Given the description of an element on the screen output the (x, y) to click on. 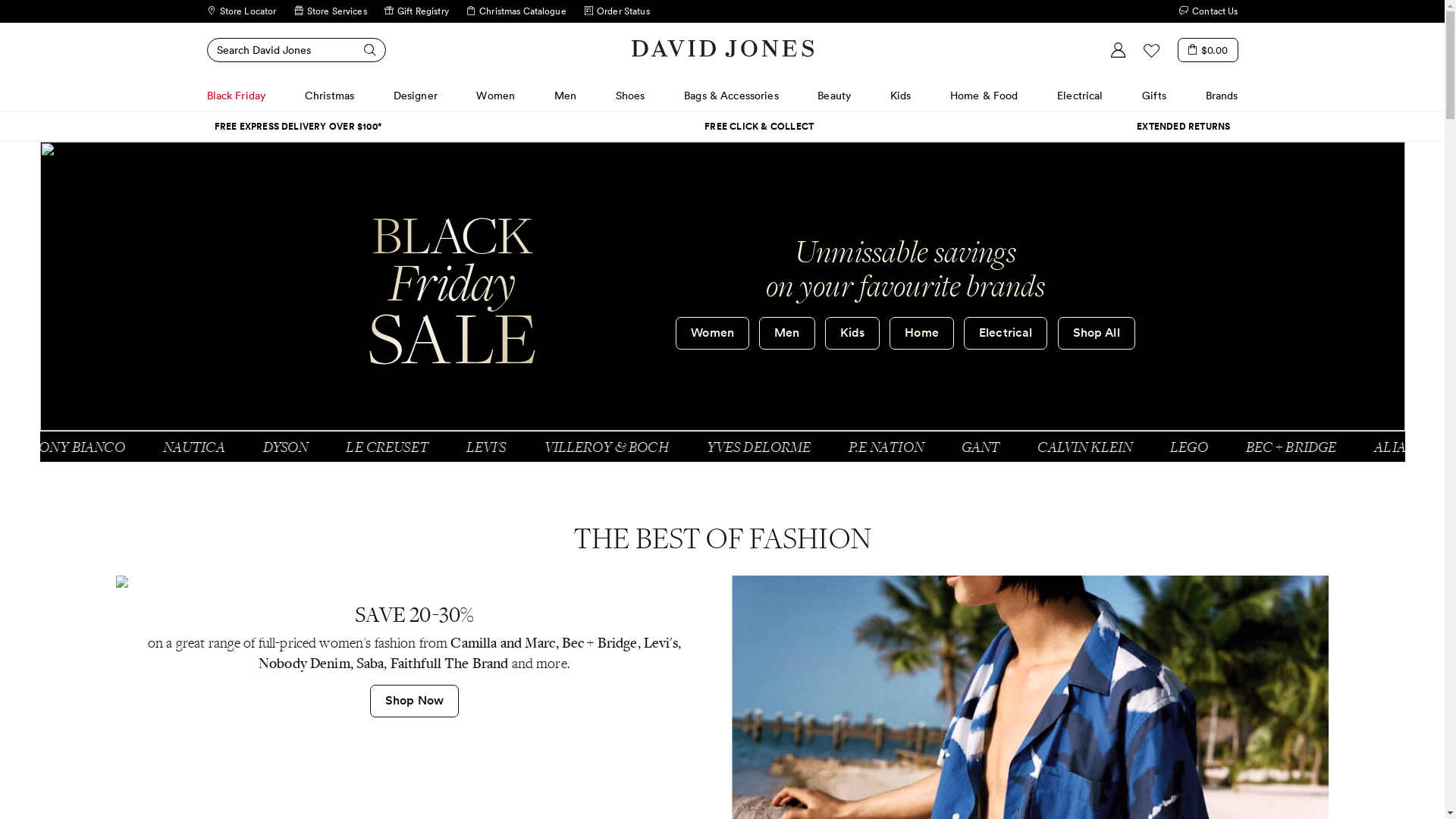
Home & Food Element type: text (984, 95)
Shoes Element type: text (630, 95)
Christmas Catalogue Element type: text (516, 11)
Beauty Element type: text (833, 95)
Men Element type: text (786, 332)
Electrical Element type: text (1079, 95)
Shop All Element type: text (1096, 332)
Bags & Accessories Element type: text (731, 95)
EXTENDED RETURNS Element type: text (1183, 126)
Kids Element type: text (852, 332)
FREE EXPRESS DELIVERY OVER $100* Element type: text (296, 126)
Women Element type: text (712, 332)
FREE CLICK & COLLECT Element type: text (758, 126)
$0.00 Element type: text (1207, 49)
Designer Element type: text (415, 95)
Black FRIDAY Sale Element type: hover (452, 290)
Gift Registry Element type: text (416, 11)
Order Status Element type: text (616, 11)
Black Friday Element type: text (235, 95)
Electrical Element type: text (1005, 332)
Search Now Element type: hover (361, 49)
Sign in Element type: hover (1118, 49)
Store Locator Element type: text (241, 11)
Contact Us Element type: text (1208, 10)
Gifts Element type: text (1153, 95)
Women Element type: text (495, 95)
Brands Element type: text (1221, 95)
Store Services Element type: text (330, 11)
Kids Element type: text (900, 95)
Christmas Element type: text (329, 95)
Men Element type: text (564, 95)
wishlist Element type: hover (1151, 49)
Home Element type: text (921, 332)
         Element type: text (676, 11)
